Given the description of an element on the screen output the (x, y) to click on. 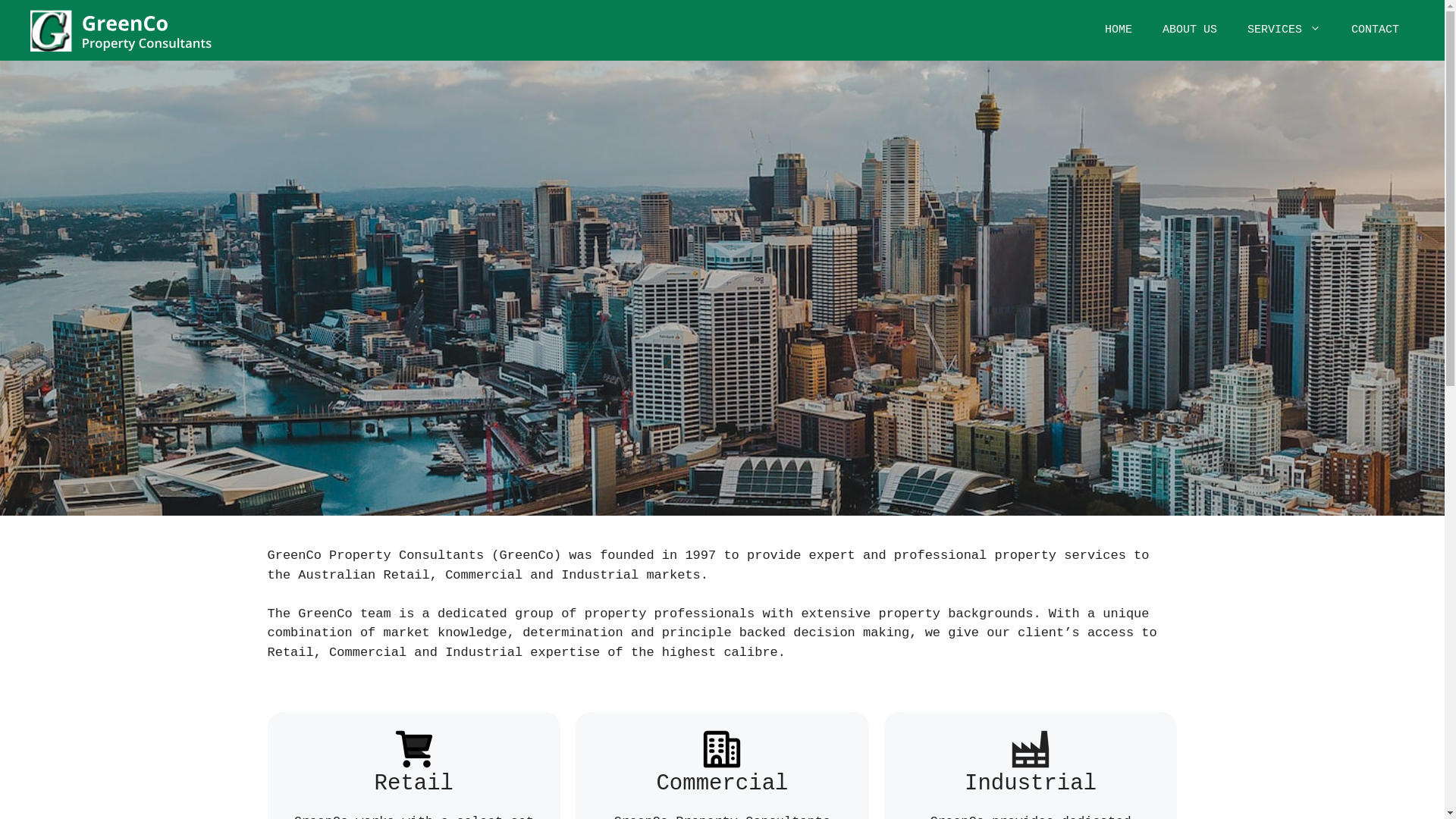
SERVICES Element type: text (1284, 30)
HOME Element type: text (1118, 30)
ABOUT US Element type: text (1189, 30)
CONTACT Element type: text (1375, 30)
